Given the description of an element on the screen output the (x, y) to click on. 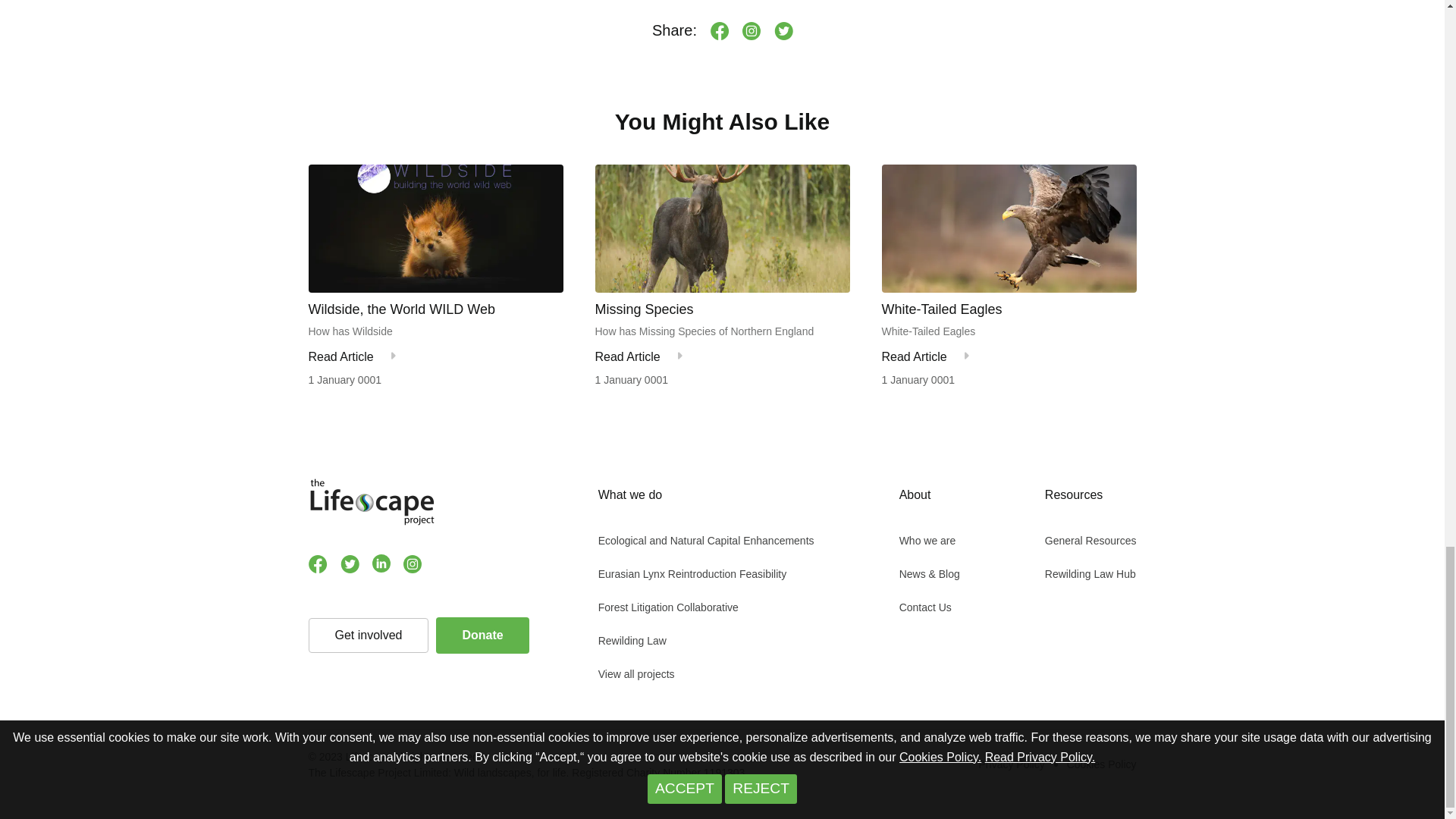
Read Article (626, 356)
Read Article (913, 356)
Wildside, the World WILD Web (434, 309)
Read Article (339, 356)
White-Tailed Eagles (1007, 309)
Missing Species (721, 309)
